Given the description of an element on the screen output the (x, y) to click on. 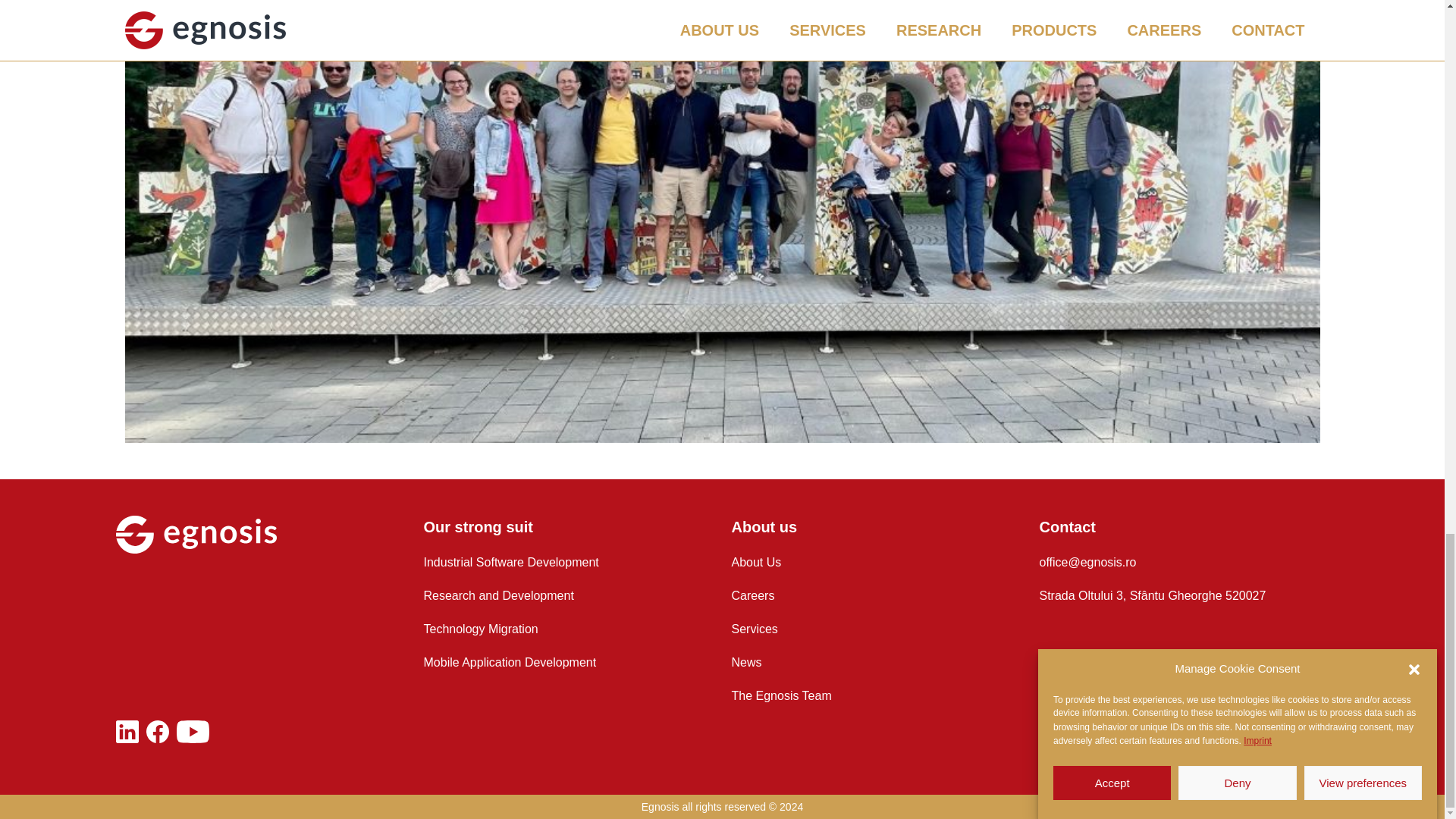
Contact Us (1183, 562)
Careers (875, 596)
Research and Development (568, 596)
Contact (1183, 526)
News (875, 662)
About Us (875, 562)
Mobile Application Development (568, 662)
Technology Migration (568, 628)
Industrial Software Development (568, 562)
The Egnosis Team (875, 696)
